Given the description of an element on the screen output the (x, y) to click on. 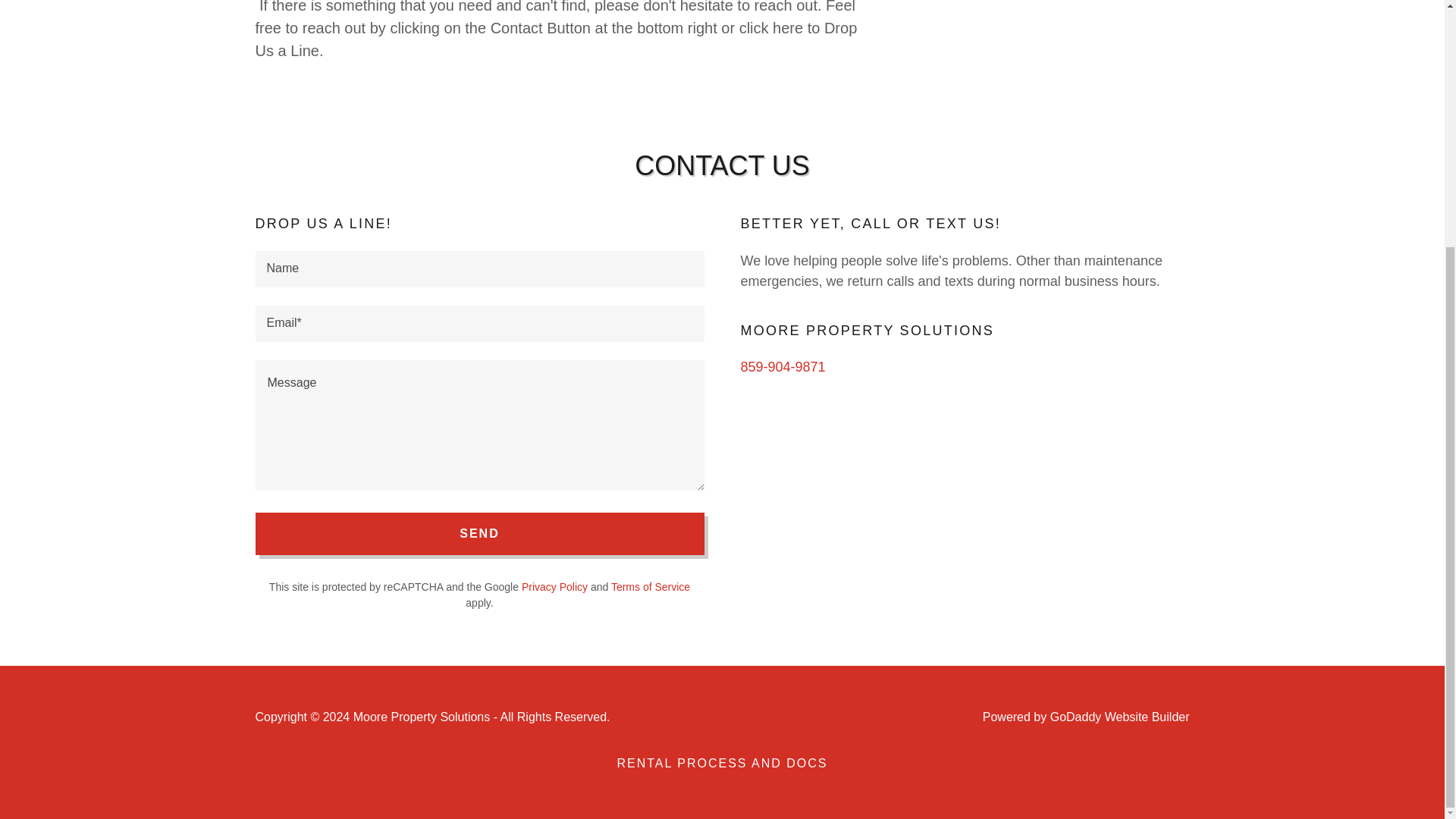
SEND (478, 533)
GoDaddy (1075, 716)
RENTAL PROCESS AND DOCS (721, 763)
Privacy Policy (554, 586)
859-904-9871 (782, 366)
Terms of Service (650, 586)
